Given the description of an element on the screen output the (x, y) to click on. 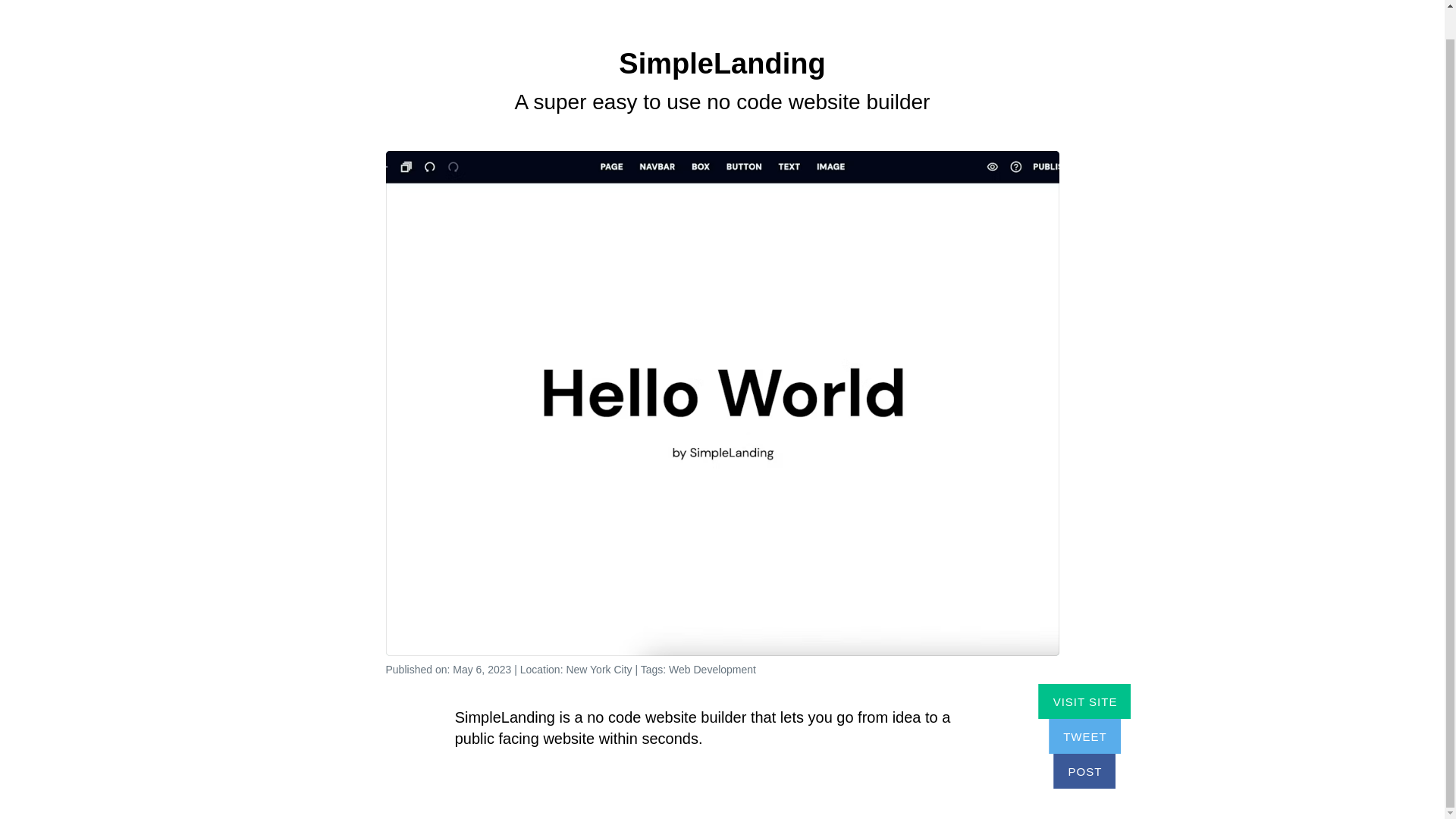
 POST (1083, 770)
 VISIT SITE (1084, 701)
 TWEET (1083, 736)
